Given the description of an element on the screen output the (x, y) to click on. 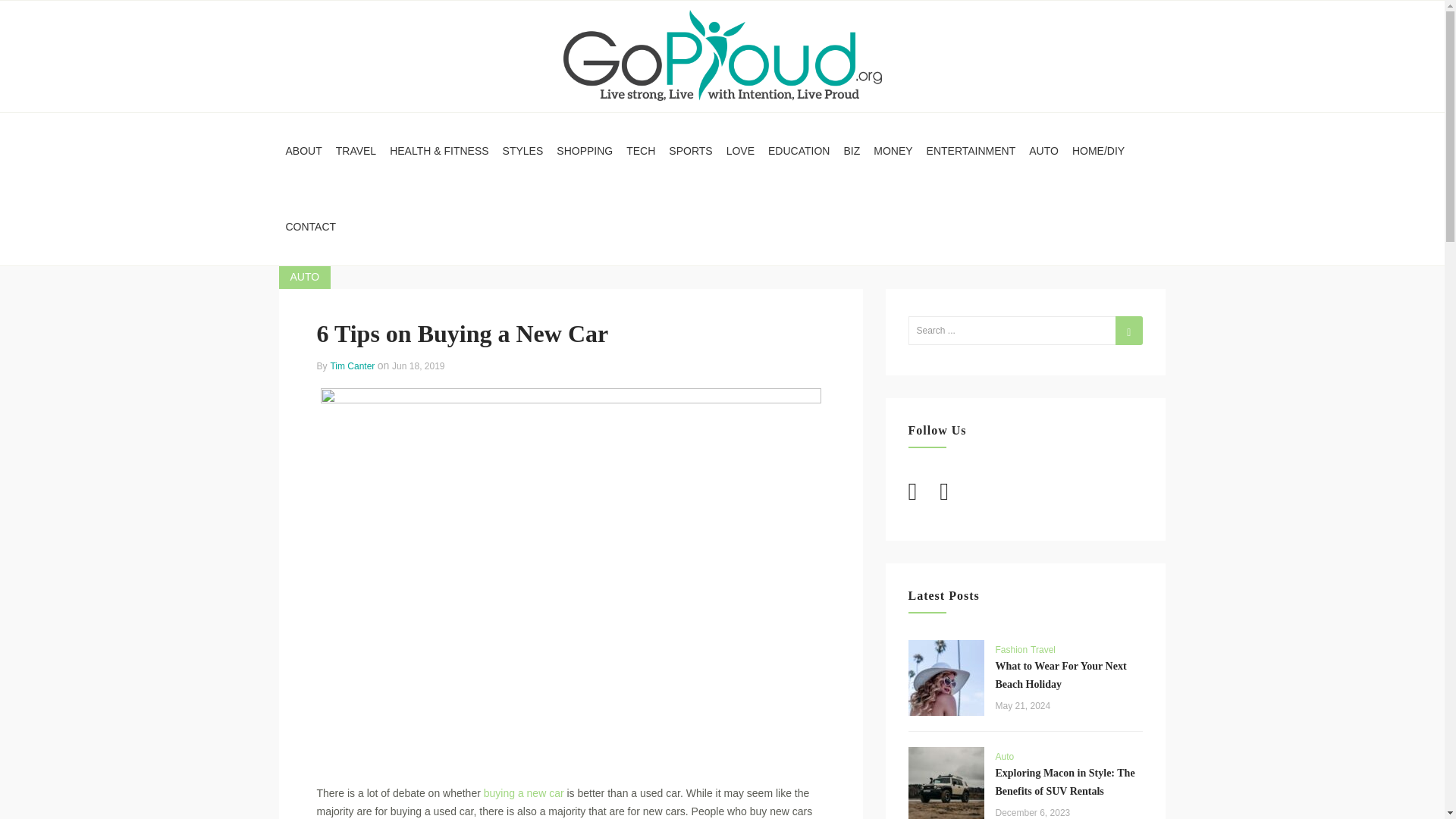
buying a new car (523, 793)
ENTERTAINMENT (971, 151)
SHOPPING (585, 151)
Tim Canter (353, 366)
EDUCATION (798, 151)
AUTO (305, 277)
